Given the description of an element on the screen output the (x, y) to click on. 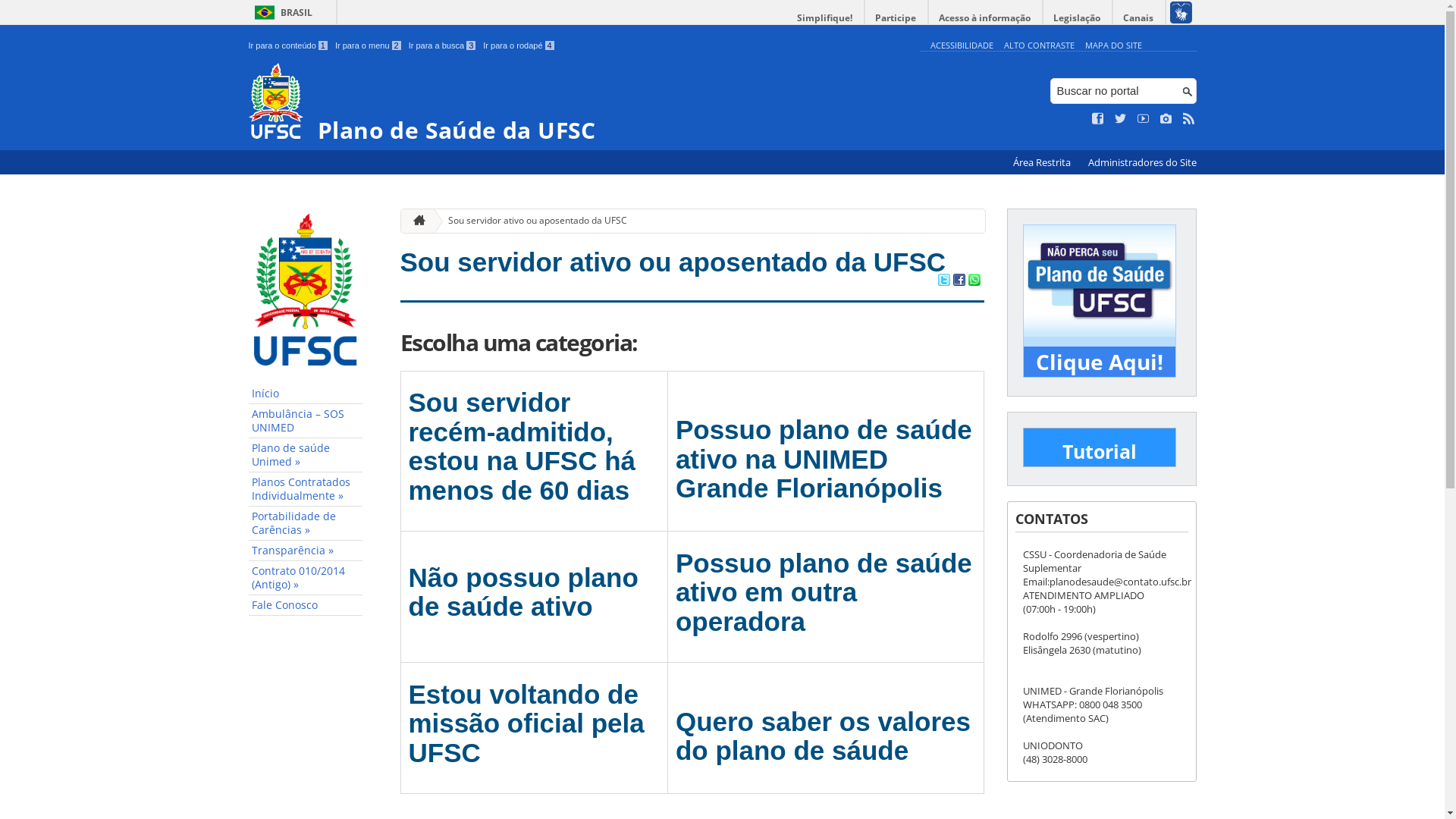
Clique Aqui! Element type: text (1099, 361)
Compartilhar no Facebook Element type: hover (958, 280)
Sou servidor ativo ou aposentado da UFSC Element type: text (673, 261)
Compartilhar no Twitter Element type: hover (943, 280)
Compartilhar no WhatsApp Element type: hover (973, 280)
Curta no Facebook Element type: hover (1098, 118)
Sou servidor ativo ou aposentado da UFSC Element type: text (531, 220)
Simplifique! Element type: text (825, 18)
Fale Conosco Element type: text (305, 605)
Canais Element type: text (1138, 18)
Veja no Instagram Element type: hover (1166, 118)
BRASIL Element type: text (280, 12)
Administradores do Site Element type: text (1141, 162)
ACESSIBILIDADE Element type: text (960, 44)
ALTO CONTRASTE Element type: text (1039, 44)
MAPA DO SITE Element type: text (1112, 44)
Tutorial Element type: text (1099, 451)
Ir para a busca 3 Element type: text (442, 45)
Ir para o menu 2 Element type: text (368, 45)
Participe Element type: text (895, 18)
Siga no Twitter Element type: hover (1120, 118)
